Given the description of an element on the screen output the (x, y) to click on. 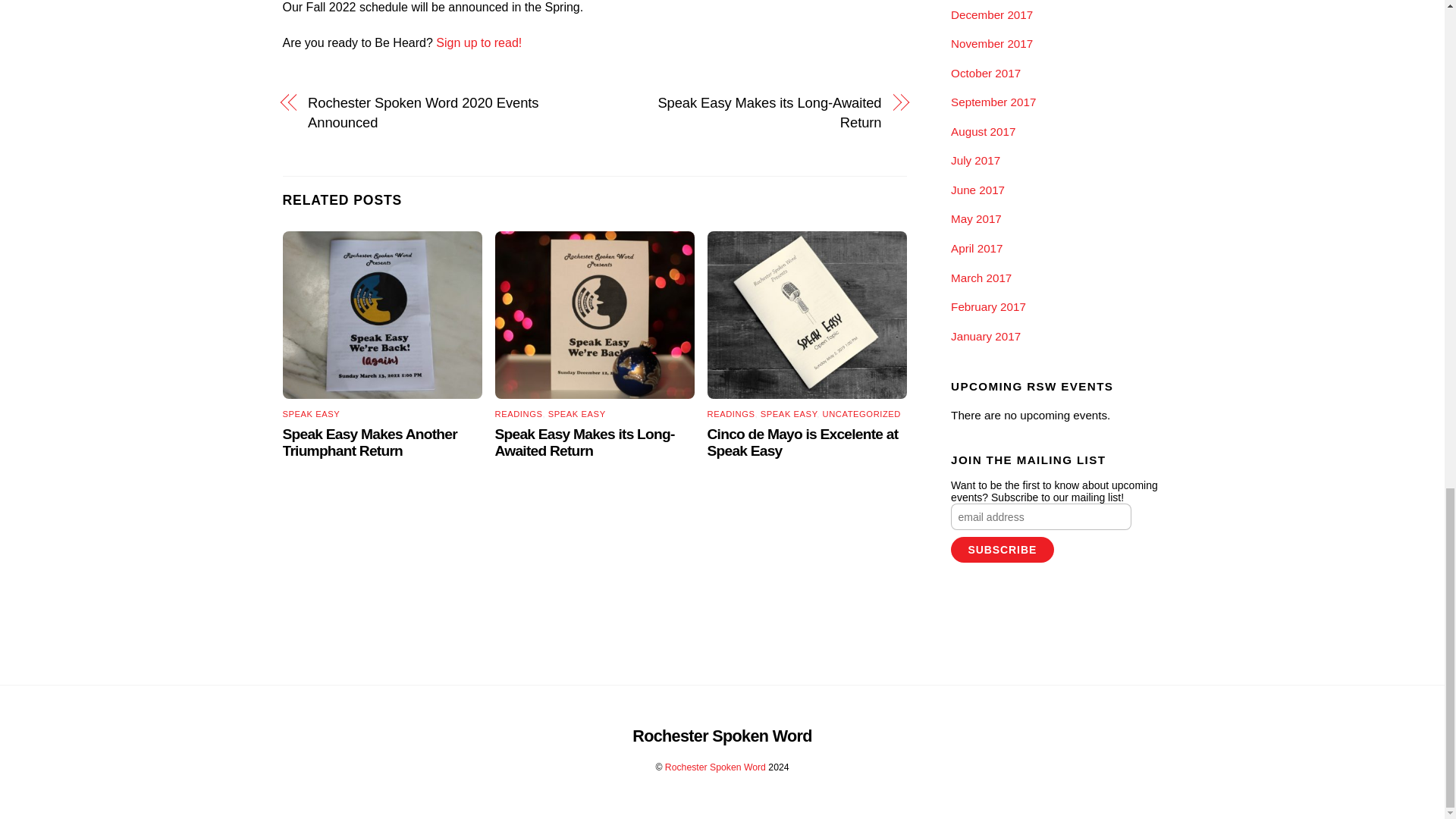
SPEAK EASY (576, 413)
Subscribe (1001, 548)
Rochester Spoken Word (721, 735)
Speak Easy Makes its Long-Awaited Return (746, 113)
SPEAK EASY (310, 413)
Cinco de Mayo is Excelente at Speak Easy (802, 441)
Speak Easy Makes its Long-Awaited Return (585, 441)
READINGS (731, 413)
UNCATEGORIZED (861, 413)
Sign up to read! (478, 42)
READINGS (519, 413)
Speak Easy Makes Another Triumphant Return (369, 441)
Rochester Spoken Word 2020 Events Announced (441, 113)
SPEAK EASY (788, 413)
